Given the description of an element on the screen output the (x, y) to click on. 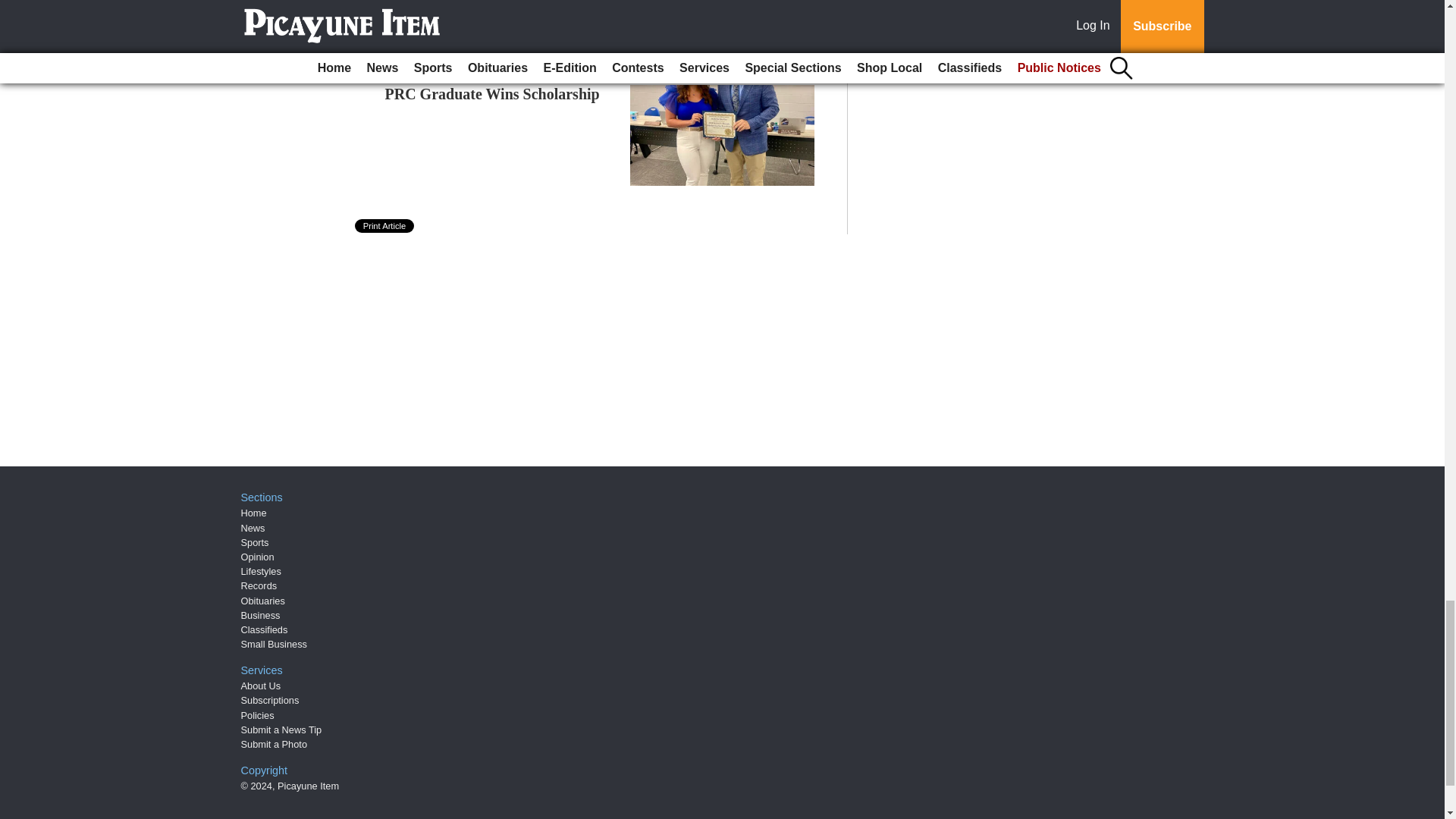
Print Article (384, 225)
PRC Graduate Wins Scholarship (492, 93)
PRC Graduate Wins Scholarship (492, 93)
